Given the description of an element on the screen output the (x, y) to click on. 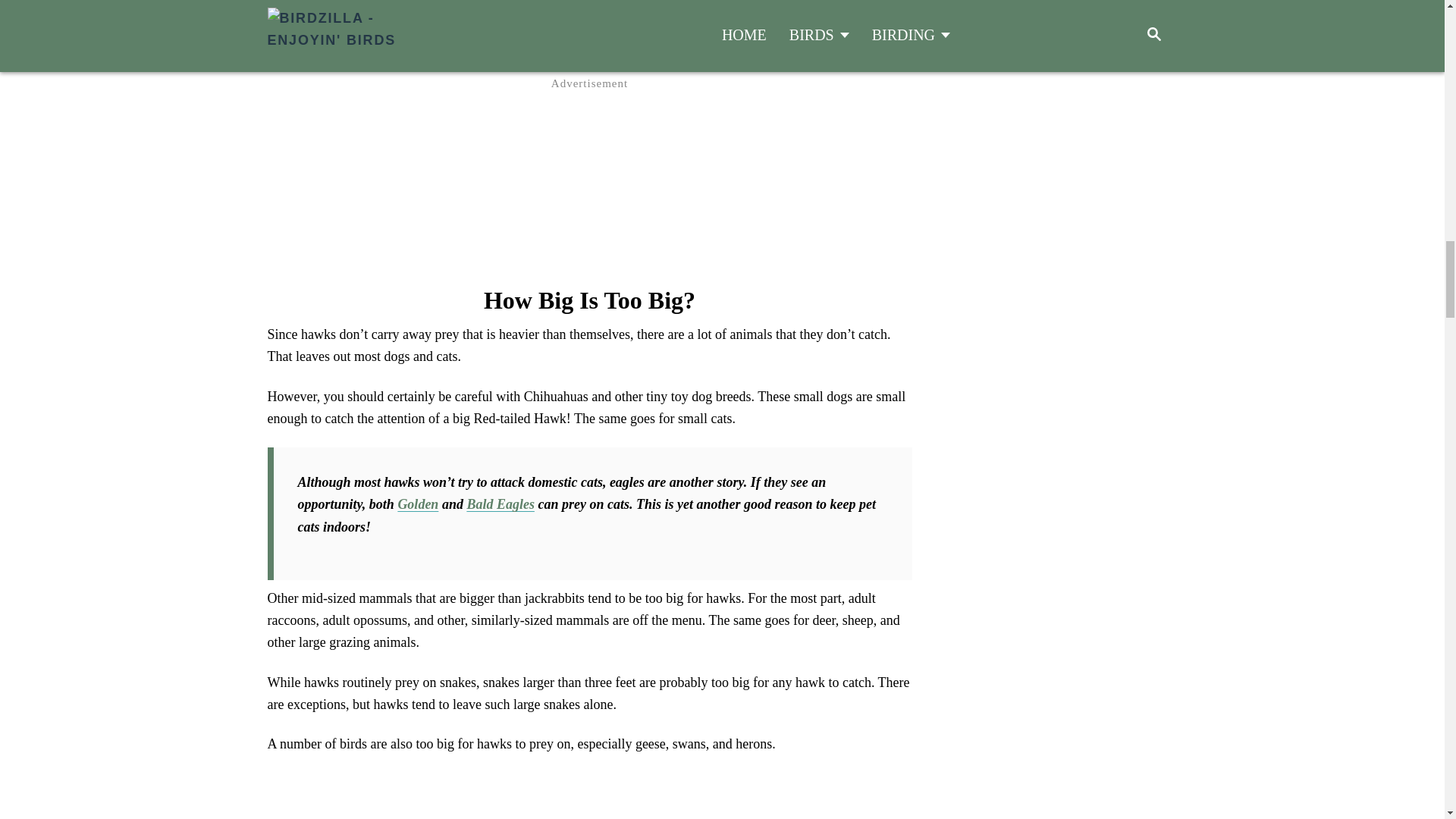
Golden (417, 503)
Bald Eagles (499, 503)
